Given the description of an element on the screen output the (x, y) to click on. 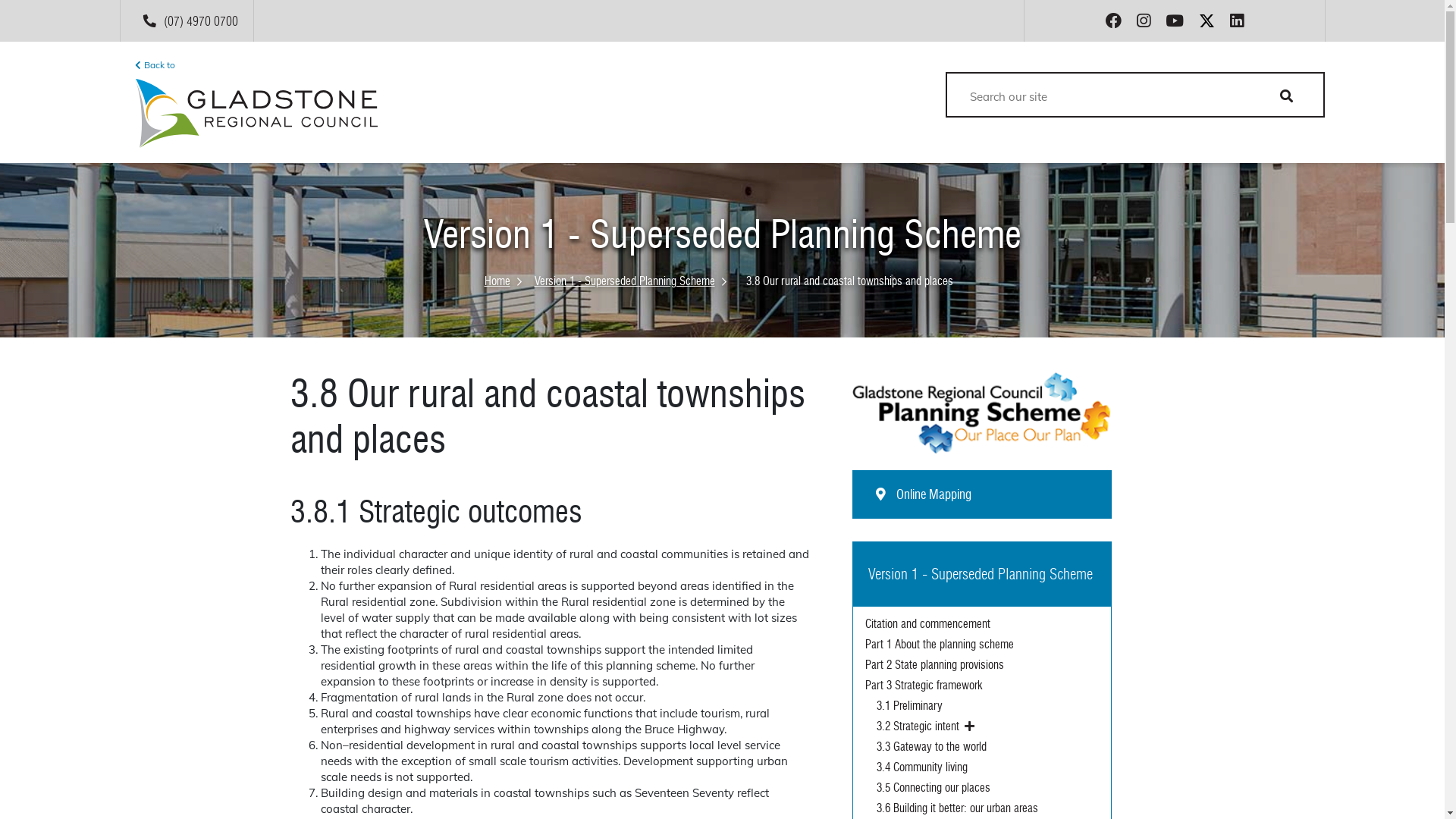
3.4 Community living Element type: text (987, 767)
3.1 Preliminary Element type: text (987, 706)
3.5 Connecting our places Element type: text (987, 788)
3.2 Strategic intent
Open Element type: text (987, 726)
Version 1 - Superseded Planning Scheme Element type: text (629, 281)
Citation and commencement Element type: text (981, 624)
Part 1 About the planning scheme Element type: text (981, 644)
Home Element type: text (501, 281)
(07) 4970 0700 Element type: text (193, 20)
Part 2 State planning provisions Element type: text (981, 665)
3.3 Gateway to the world Element type: text (987, 747)
Online Mapping Element type: text (981, 494)
Part 3 Strategic framework Element type: text (981, 685)
View menu Element type: text (944, 131)
